Given the description of an element on the screen output the (x, y) to click on. 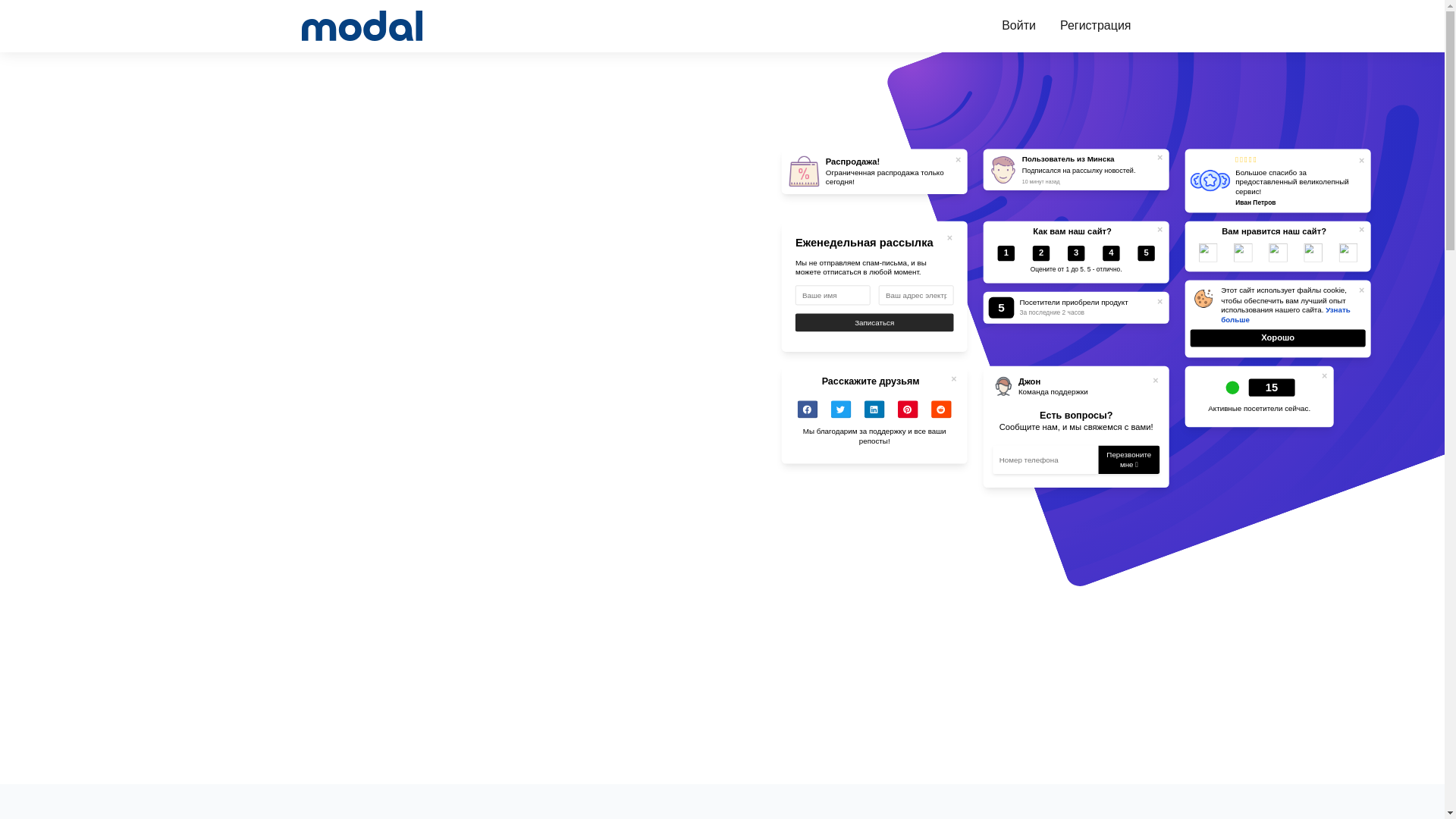
Facebook Element type: hover (811, 412)
5 Element type: text (1149, 256)
3 Element type: text (1079, 256)
1 Element type: text (1009, 256)
Reddit Element type: hover (944, 412)
Twitter Element type: hover (844, 412)
Pinterest Element type: hover (911, 412)
4 Element type: text (1113, 256)
LinkedIn Element type: hover (877, 412)
2 Element type: text (1044, 256)
